Given the description of an element on the screen output the (x, y) to click on. 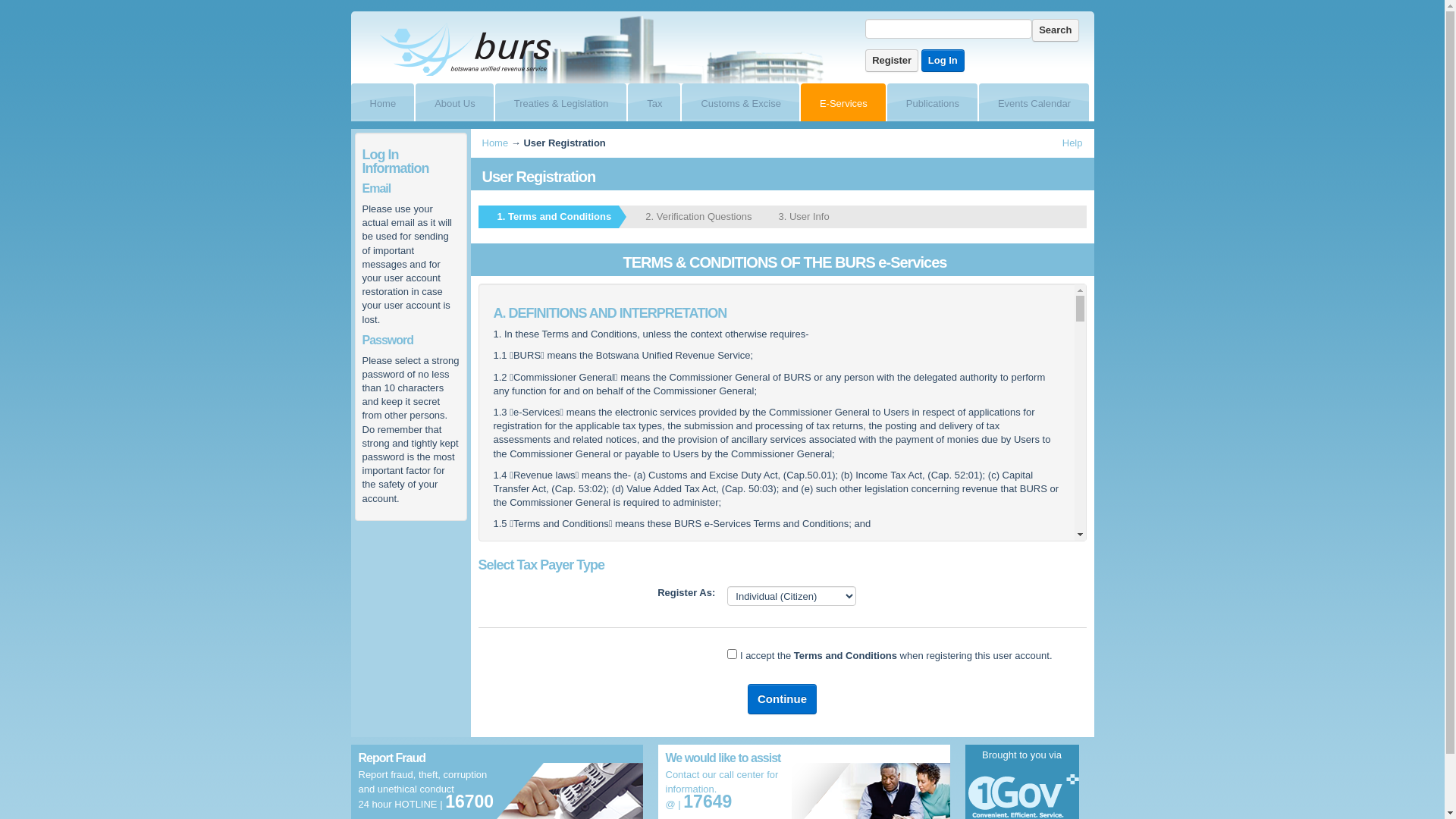
About Us Element type: text (446, 102)
Home Element type: text (495, 142)
Events Calendar Element type: text (1026, 102)
Search Element type: text (1055, 29)
Publications Element type: text (925, 102)
Log In Element type: text (942, 60)
Customs & Excise Element type: text (732, 102)
Tax Element type: text (646, 102)
Register Element type: text (891, 60)
BURS E-Service Portal Element type: text (465, 48)
Continue Element type: text (781, 699)
Treaties & Legislation Element type: text (553, 102)
Home Element type: text (374, 102)
E-Services Element type: text (835, 102)
Help Element type: text (1072, 142)
